Given the description of an element on the screen output the (x, y) to click on. 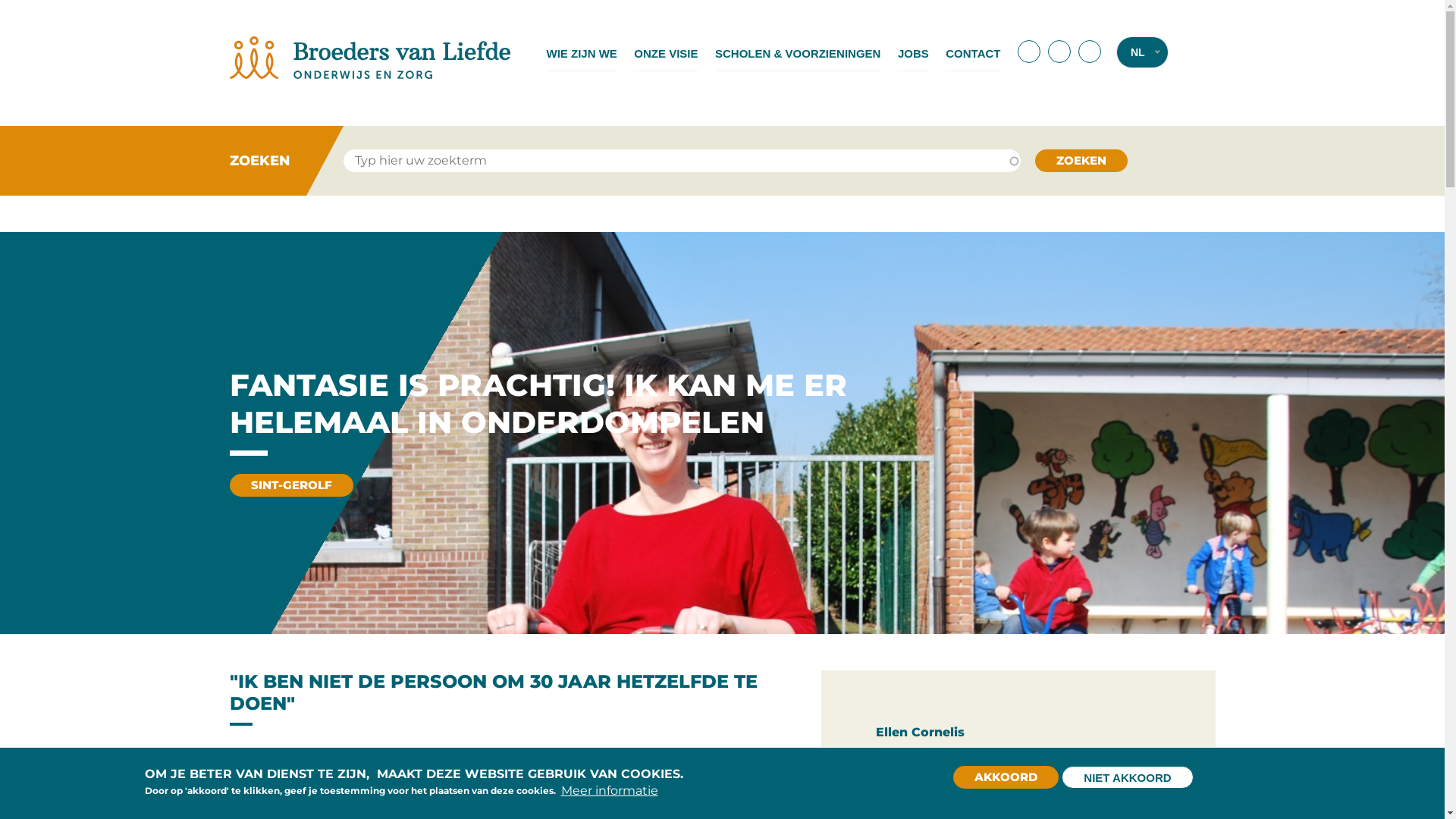
WIE ZIJN WE Element type: text (581, 53)
SINT-GEROLF Element type: text (290, 484)
NIET AKKOORD Element type: text (1126, 776)
Overslaan en naar de inhoud gaan Element type: text (0, 0)
Zoeken Element type: text (1080, 160)
CONTACT Element type: text (972, 53)
SCHOLEN & VOORZIENINGEN Element type: text (797, 53)
JOBS Element type: text (912, 53)
Meer informatie Element type: text (609, 789)
ONZE VISIE Element type: text (665, 53)
AKKOORD Element type: text (1005, 776)
